Given the description of an element on the screen output the (x, y) to click on. 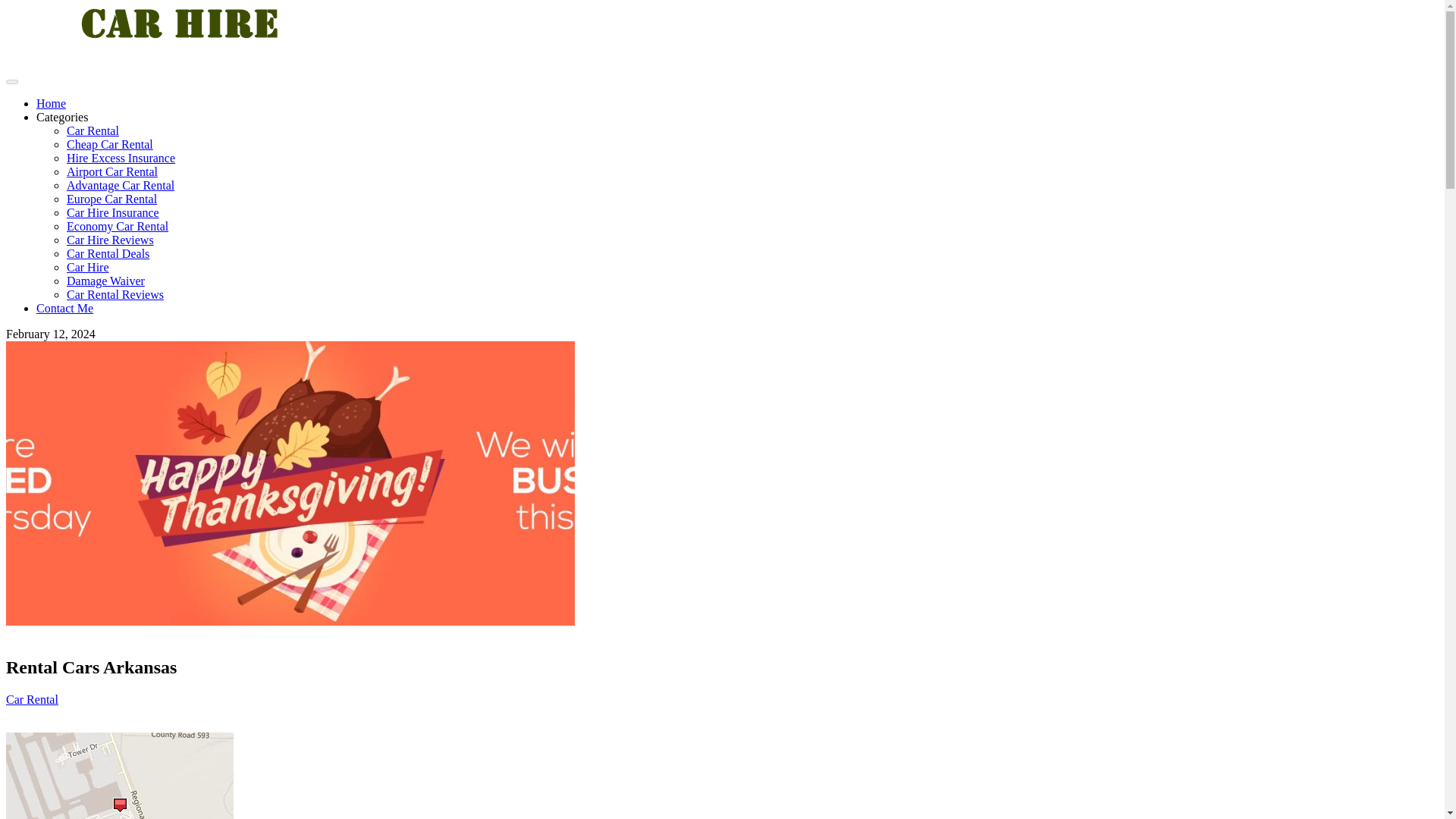
Economy Car Rental (117, 226)
Damage Waiver (105, 280)
Car Hire Reviews (110, 239)
Car Rental (31, 698)
Advantage Car Rental (120, 185)
Hire Excess Insurance (120, 157)
Car Rental Reviews (114, 294)
Categories (61, 116)
Car Rental (92, 130)
Car Rental Deals (107, 253)
Europe Car Rental (111, 198)
Home (50, 103)
Car Hire Insurance (112, 212)
Contact Me (64, 308)
Airport Car Rental (111, 171)
